Given the description of an element on the screen output the (x, y) to click on. 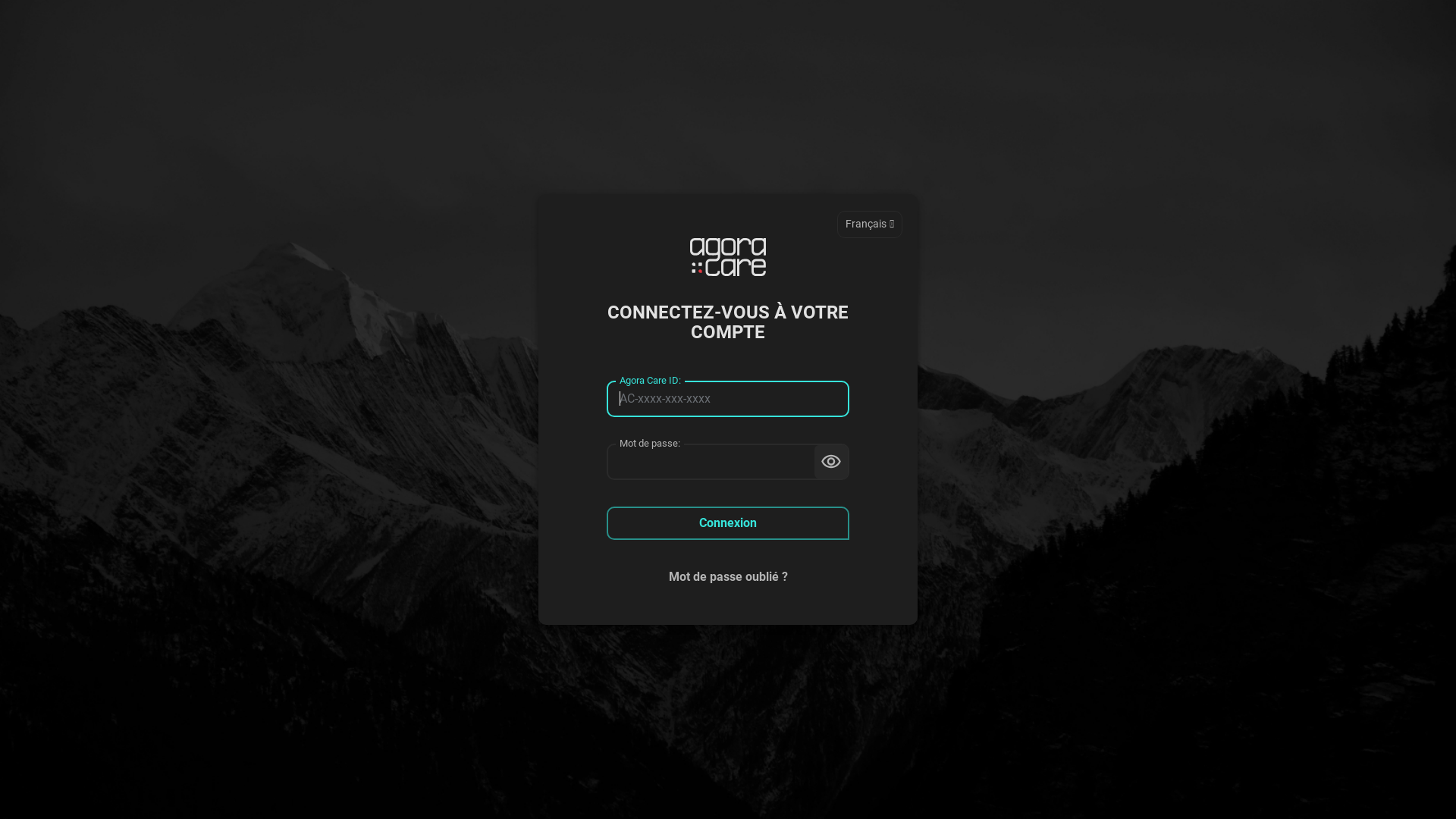
Connexion Element type: text (727, 523)
